Given the description of an element on the screen output the (x, y) to click on. 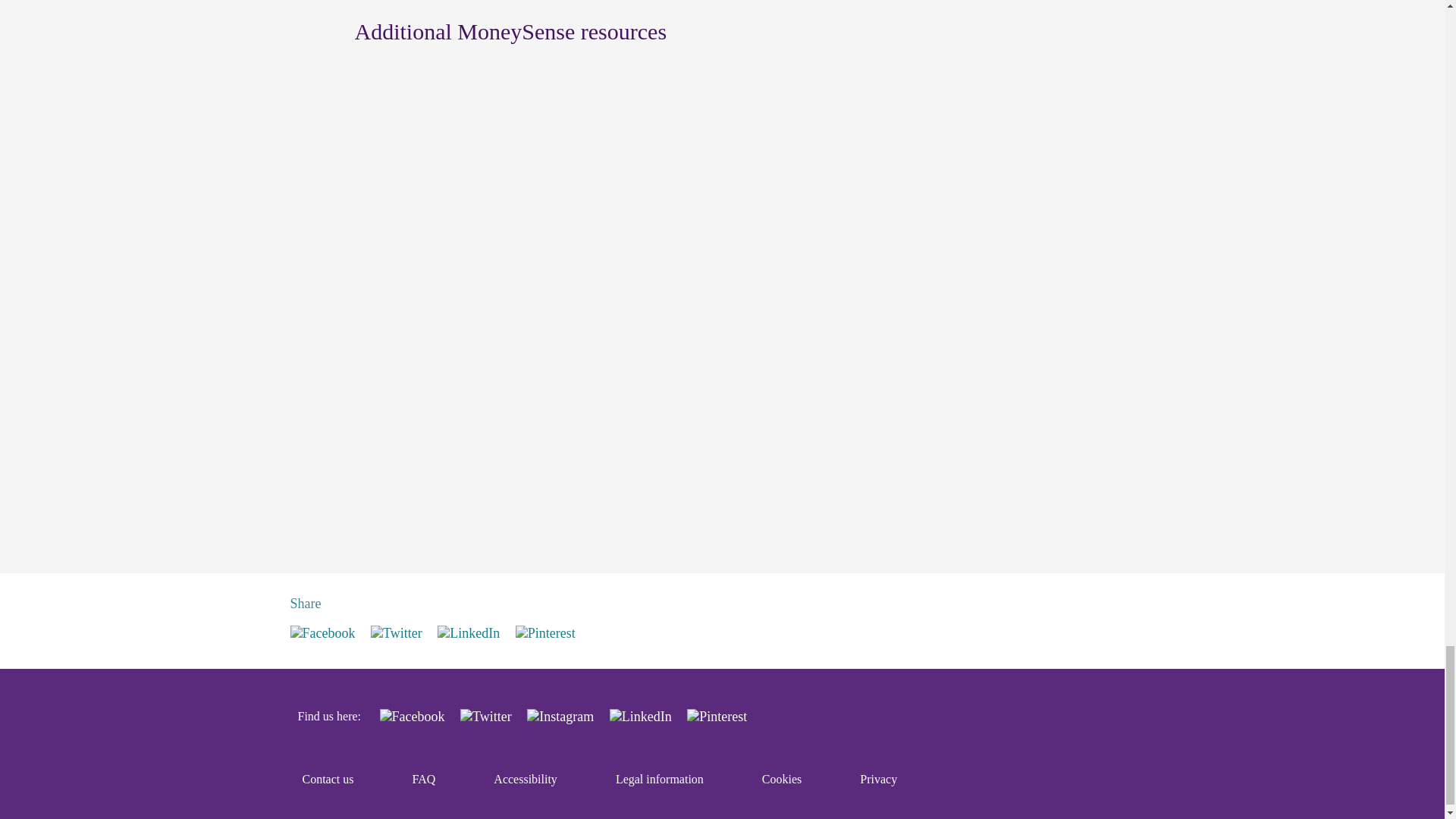
Contact us (327, 779)
Legal information (660, 779)
Accessibility (525, 779)
FAQ (424, 779)
Cookies (781, 779)
Privacy (877, 779)
